Given the description of an element on the screen output the (x, y) to click on. 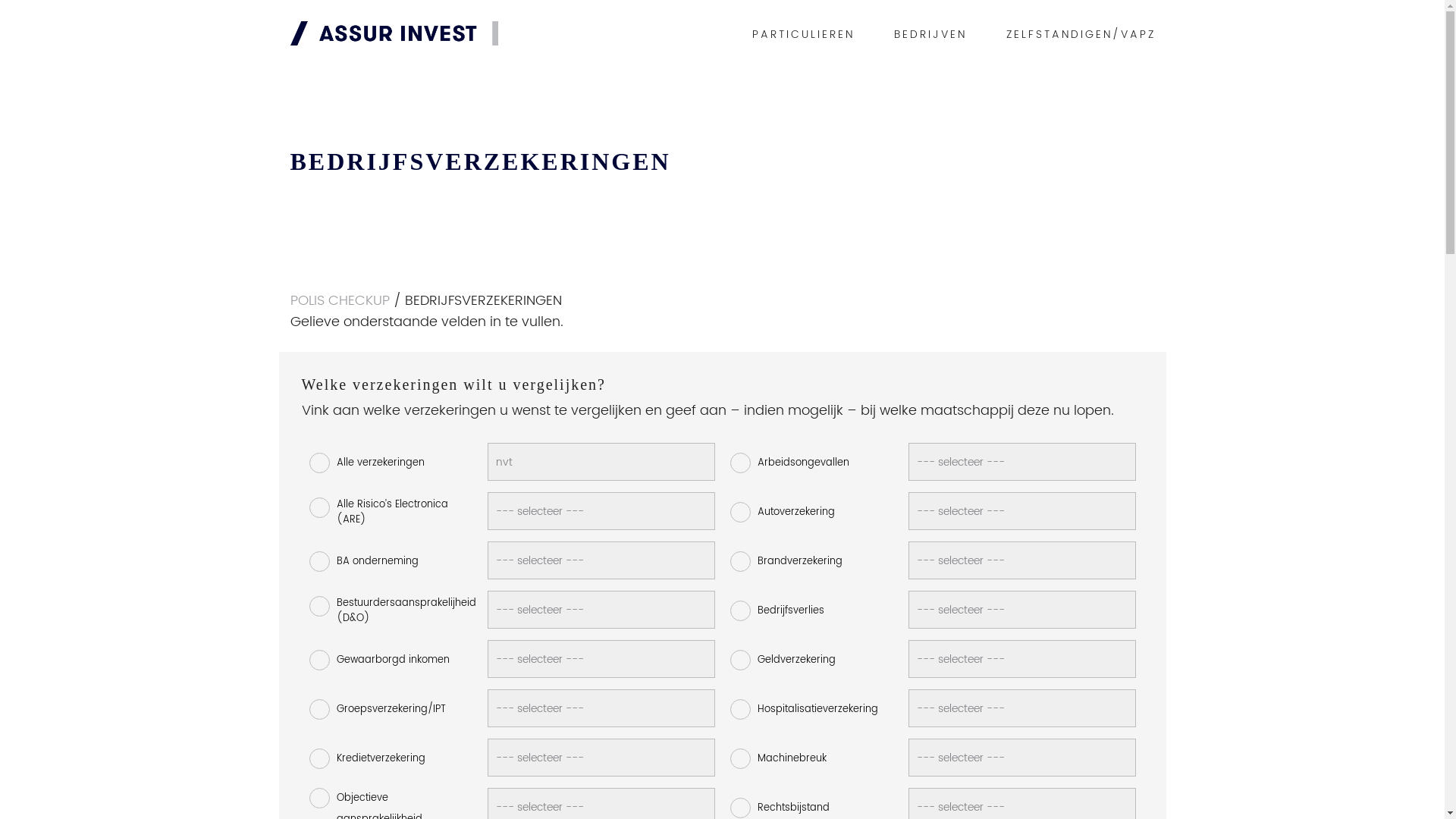
ASSURINVEST Element type: hover (393, 40)
PARTICULIEREN Element type: text (803, 34)
POLIS CHECKUP Element type: text (339, 300)
ZELFSTANDIGEN/VAPZ Element type: text (1079, 34)
BEDRIJVEN Element type: text (929, 34)
